Given the description of an element on the screen output the (x, y) to click on. 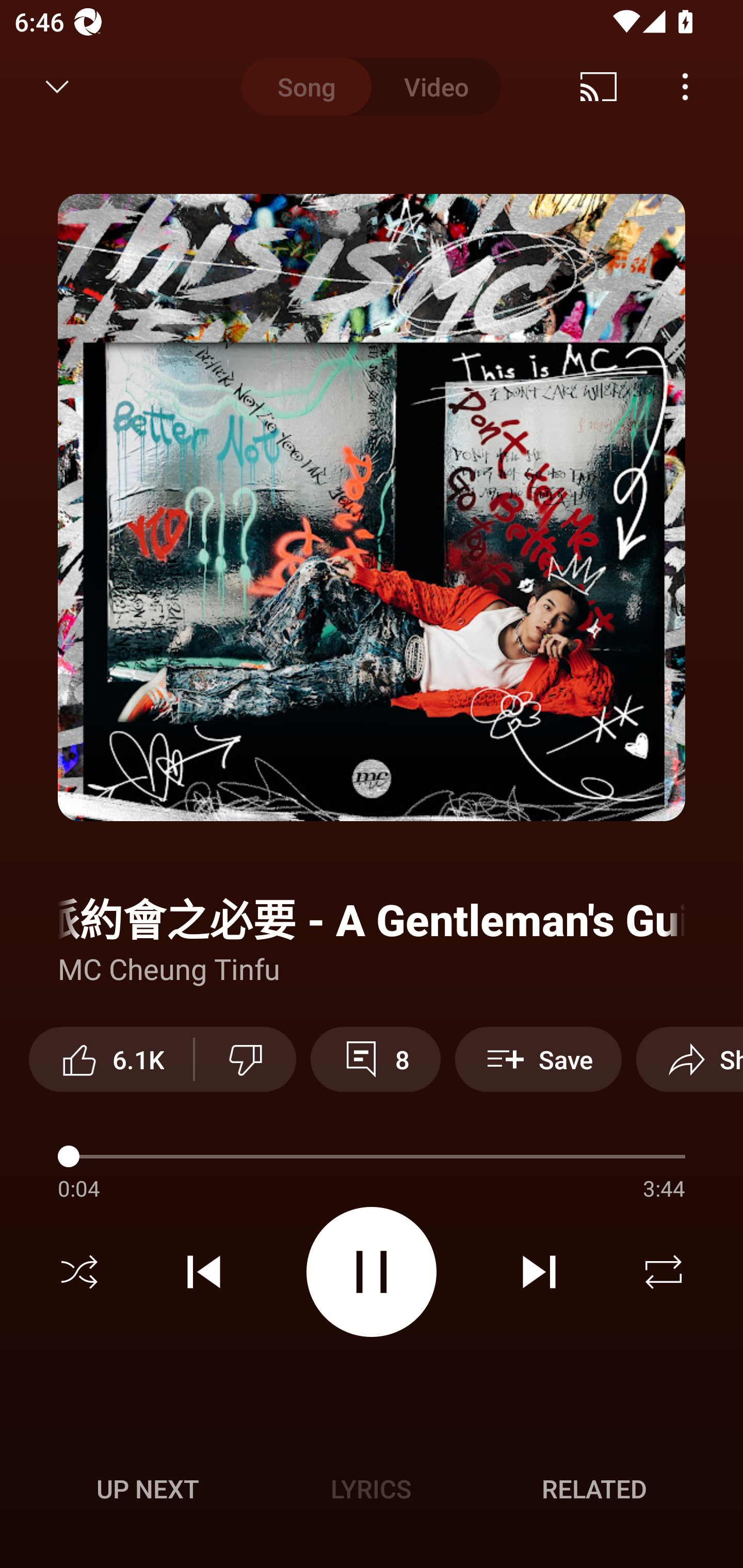
Minimize (57, 86)
Cast. Disconnected (598, 86)
Menu (684, 86)
6.1K like this video along with 6,122 other people (110, 1059)
Dislike (245, 1059)
8 View 8 comments (375, 1059)
Save Save to playlist (537, 1059)
Share (689, 1059)
Pause video (371, 1272)
Shuffle off (79, 1272)
Previous track (203, 1272)
Next track (538, 1272)
Repeat off (663, 1272)
Up next UP NEXT Lyrics LYRICS Related RELATED (371, 1491)
Lyrics LYRICS (370, 1488)
Related RELATED (594, 1488)
